Given the description of an element on the screen output the (x, y) to click on. 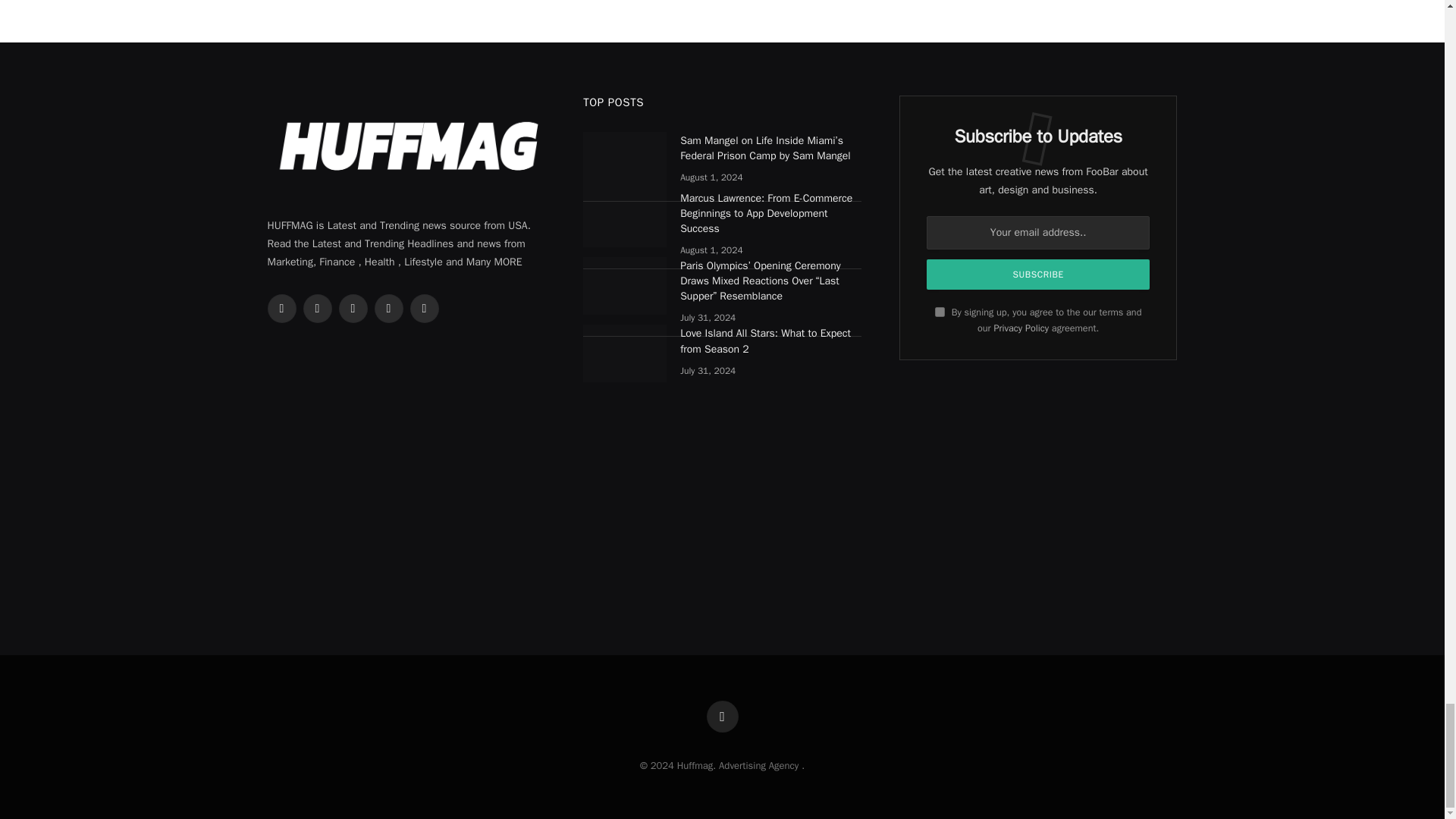
Subscribe (1037, 274)
on (939, 311)
